Given the description of an element on the screen output the (x, y) to click on. 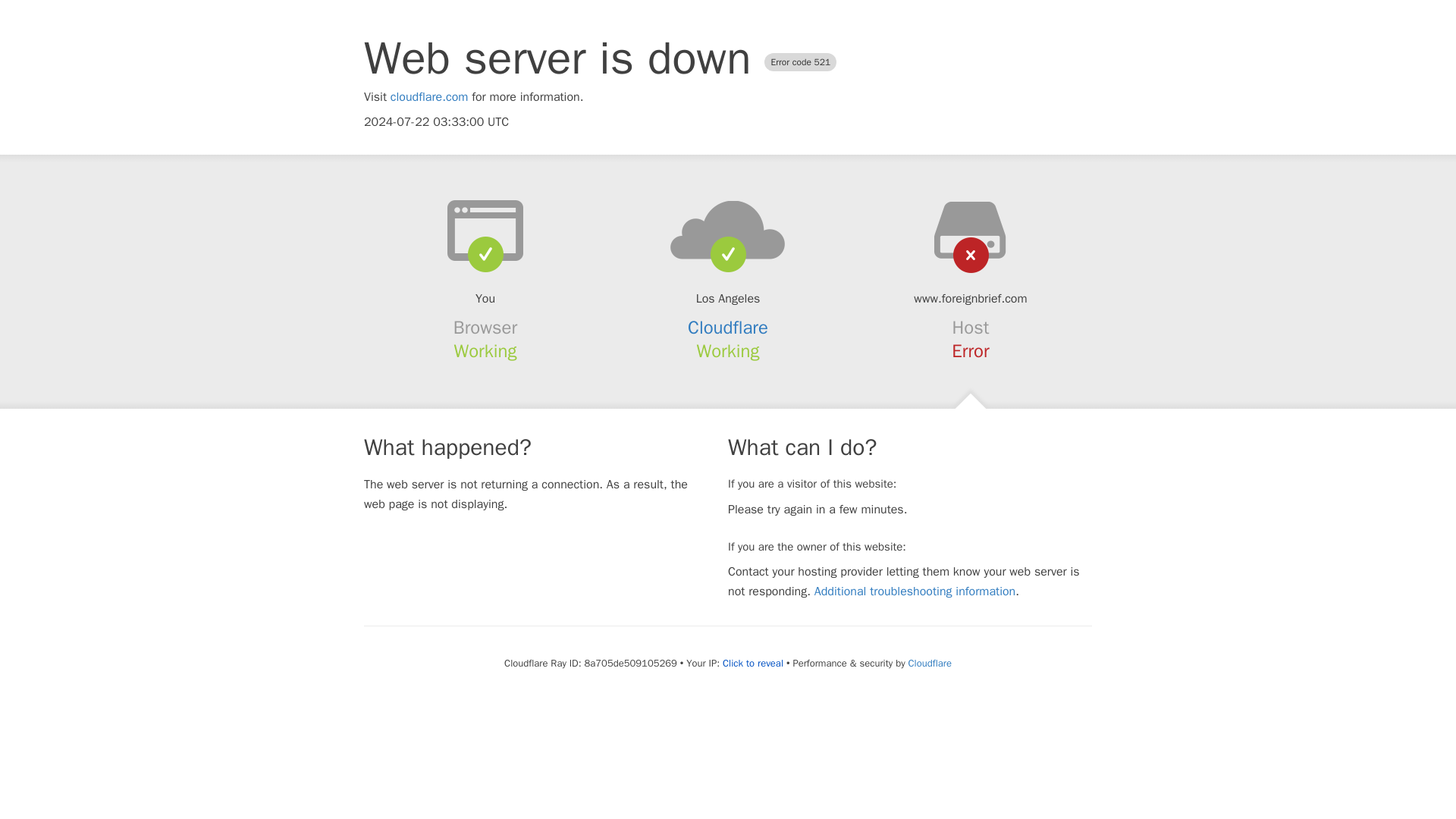
Cloudflare (930, 662)
Cloudflare (727, 327)
cloudflare.com (429, 96)
Click to reveal (752, 663)
Additional troubleshooting information (913, 590)
